Given the description of an element on the screen output the (x, y) to click on. 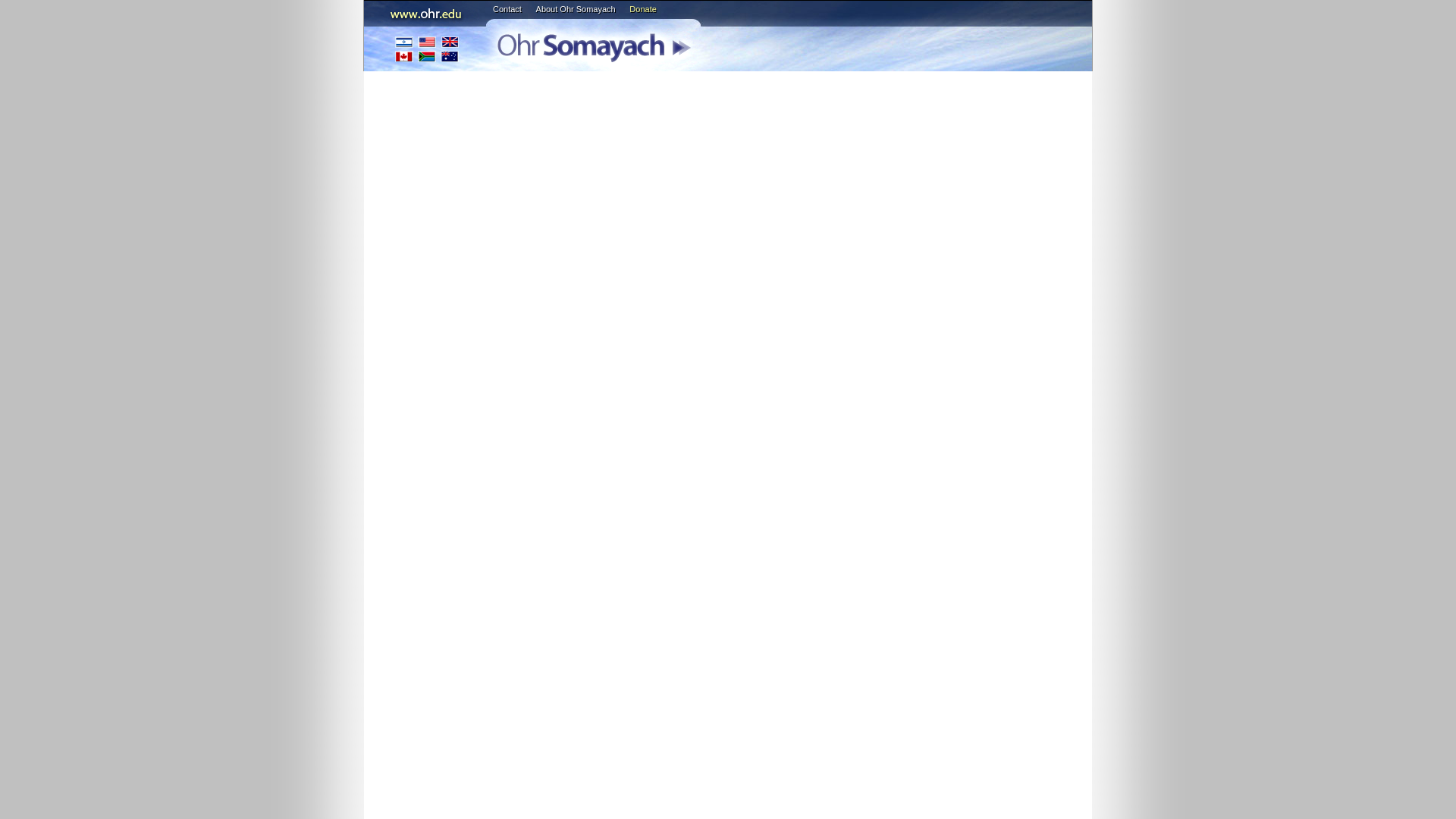
International Branches (427, 49)
International Branches (427, 49)
Contact (507, 8)
About Ohr Somayach (575, 8)
Donate (642, 8)
